Given the description of an element on the screen output the (x, y) to click on. 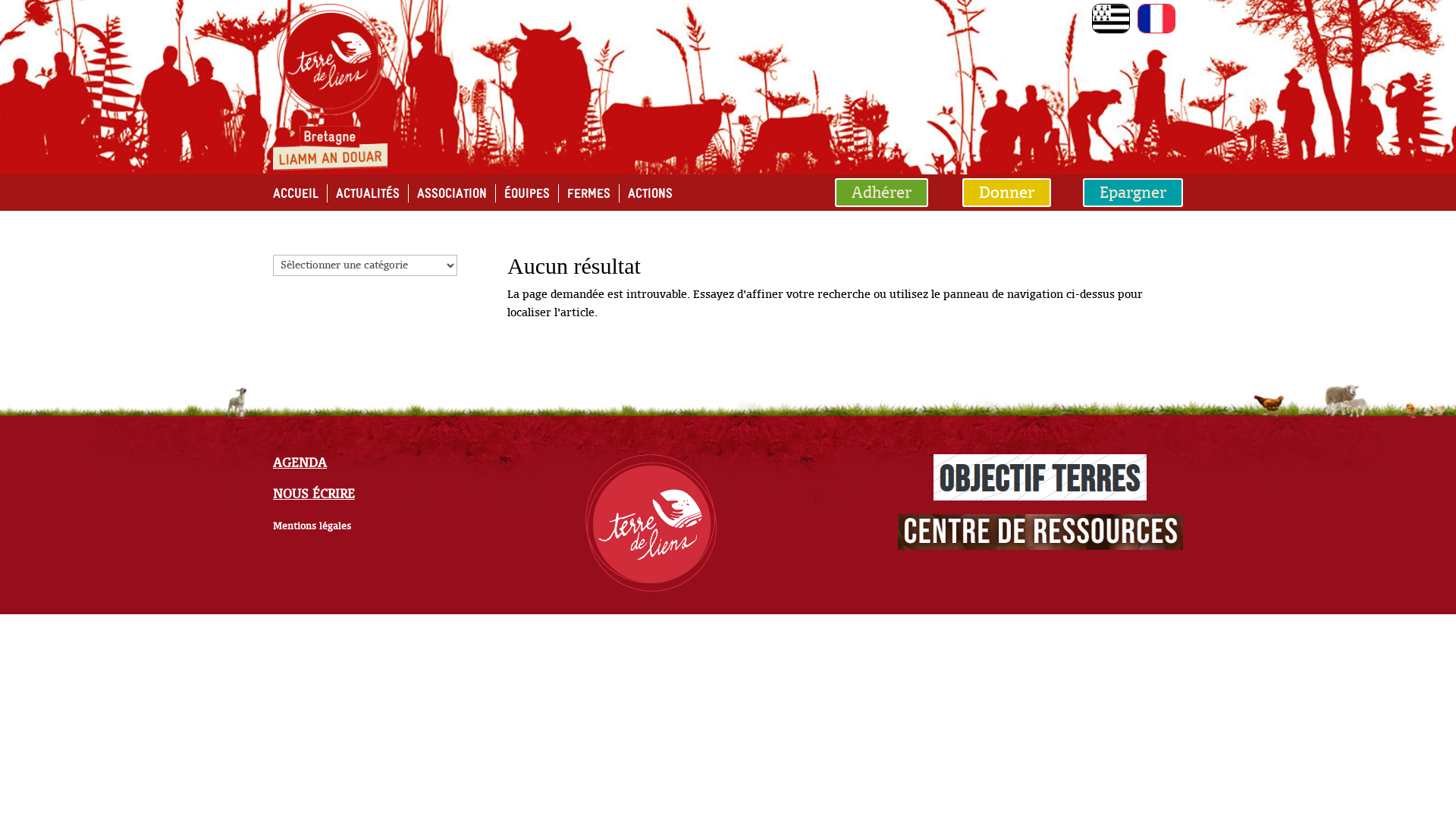
FERMES Element type: text (588, 193)
Objectif terres Element type: hover (1039, 477)
Brezhoneg Element type: hover (1110, 18)
ACTIONS Element type: text (649, 193)
Epargner Element type: text (1132, 192)
CDR Element type: hover (1040, 532)
Mouvement TDL Element type: hover (650, 522)
ASSOCIATION Element type: text (451, 193)
Donner Element type: text (1006, 192)
ACCUEIL Element type: text (295, 193)
Terre de liens Bretagne Element type: hover (330, 86)
